Given the description of an element on the screen output the (x, y) to click on. 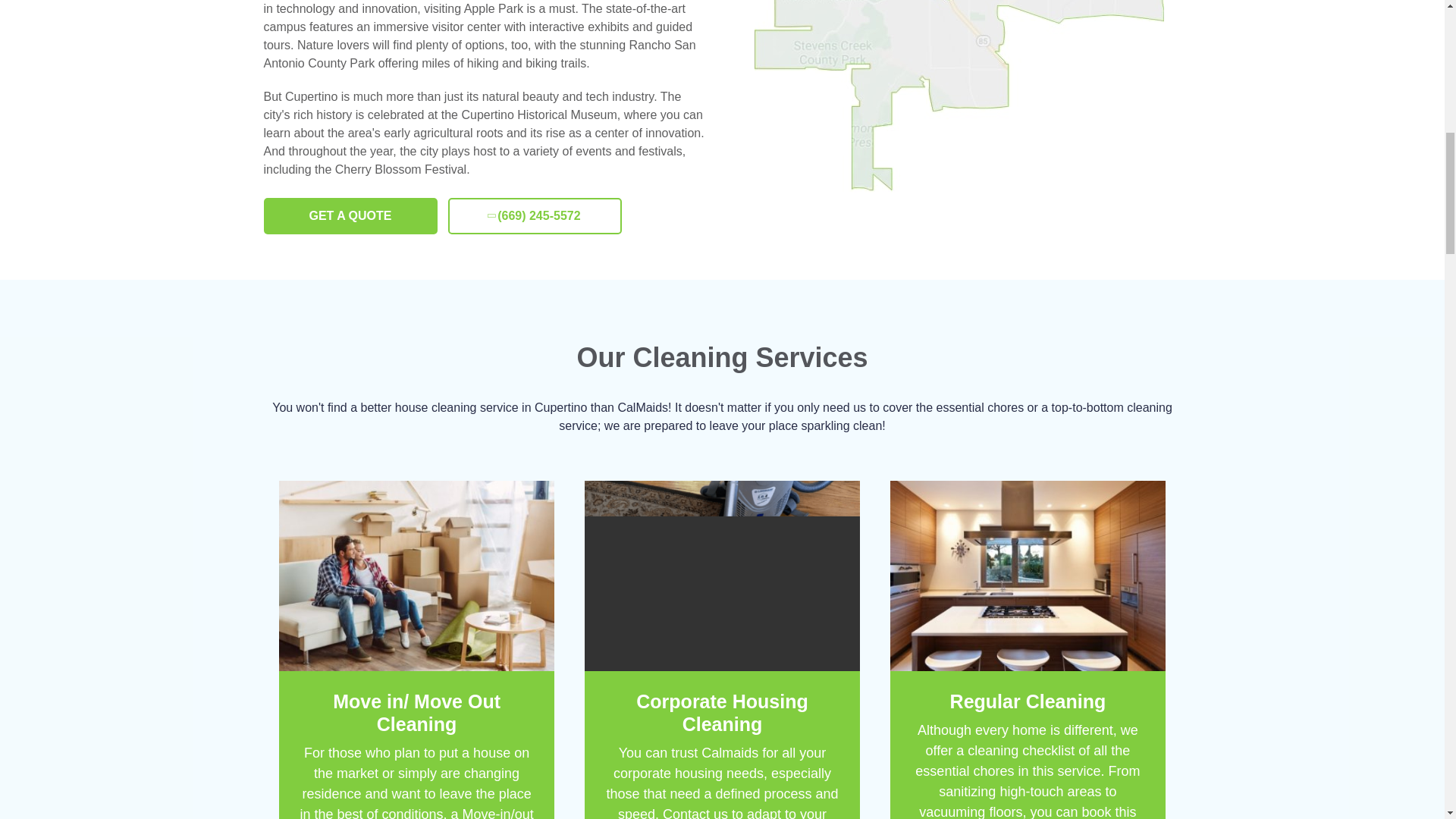
Cherry Blossom Festival (399, 169)
Corporate Housing Cleaning (722, 712)
GET A QUOTE (350, 216)
Rancho San Antonio County Park (479, 53)
Cupertino Historical Museum (538, 114)
Apple Park (493, 8)
Regular Cleaning (1028, 701)
